Given the description of an element on the screen output the (x, y) to click on. 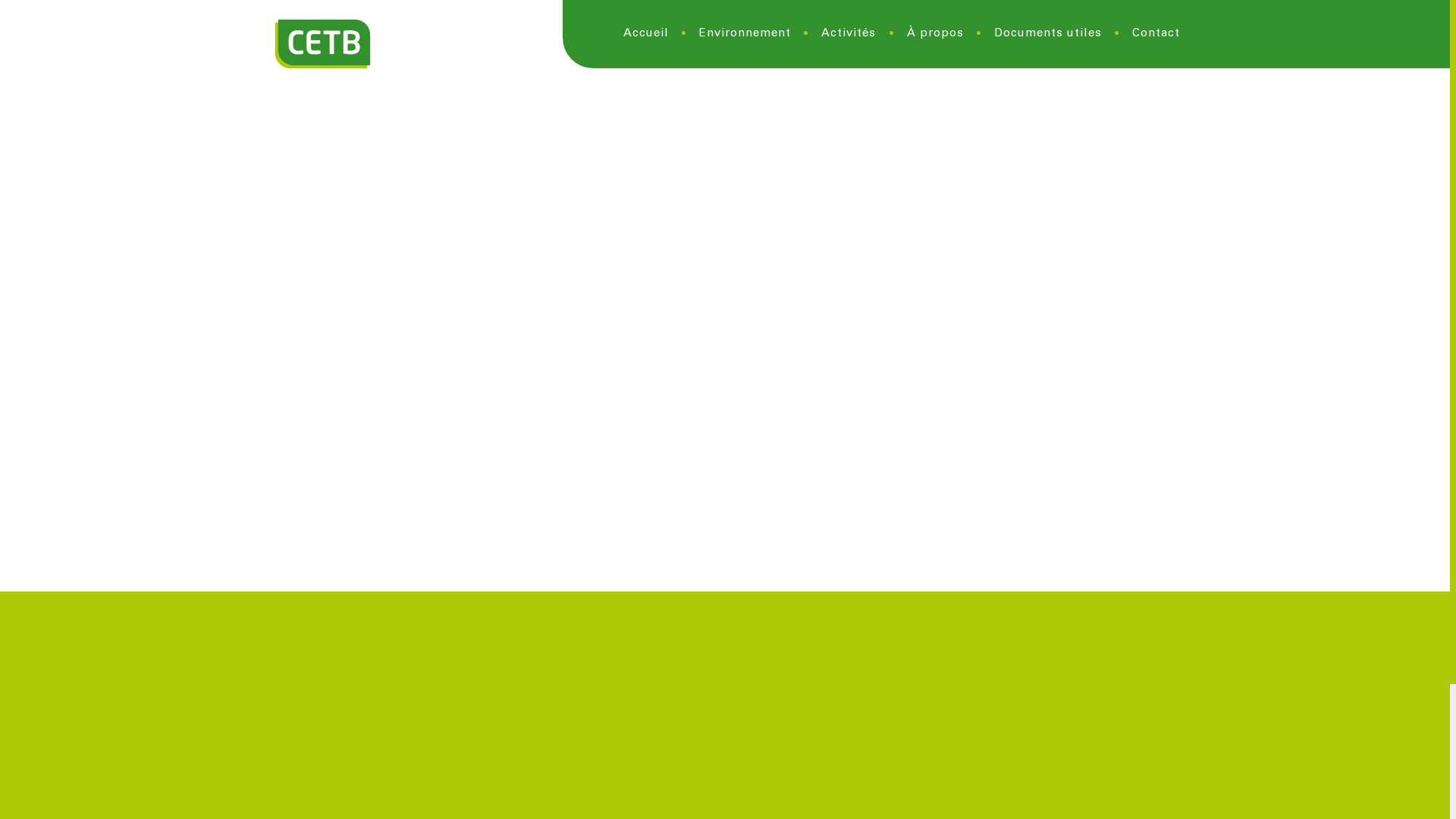
Contact Element type: text (1155, 34)
Accueil Element type: text (645, 34)
Environnement Element type: text (744, 34)
Accueil Element type: hover (322, 43)
Documents utiles Element type: text (1047, 34)
